Given the description of an element on the screen output the (x, y) to click on. 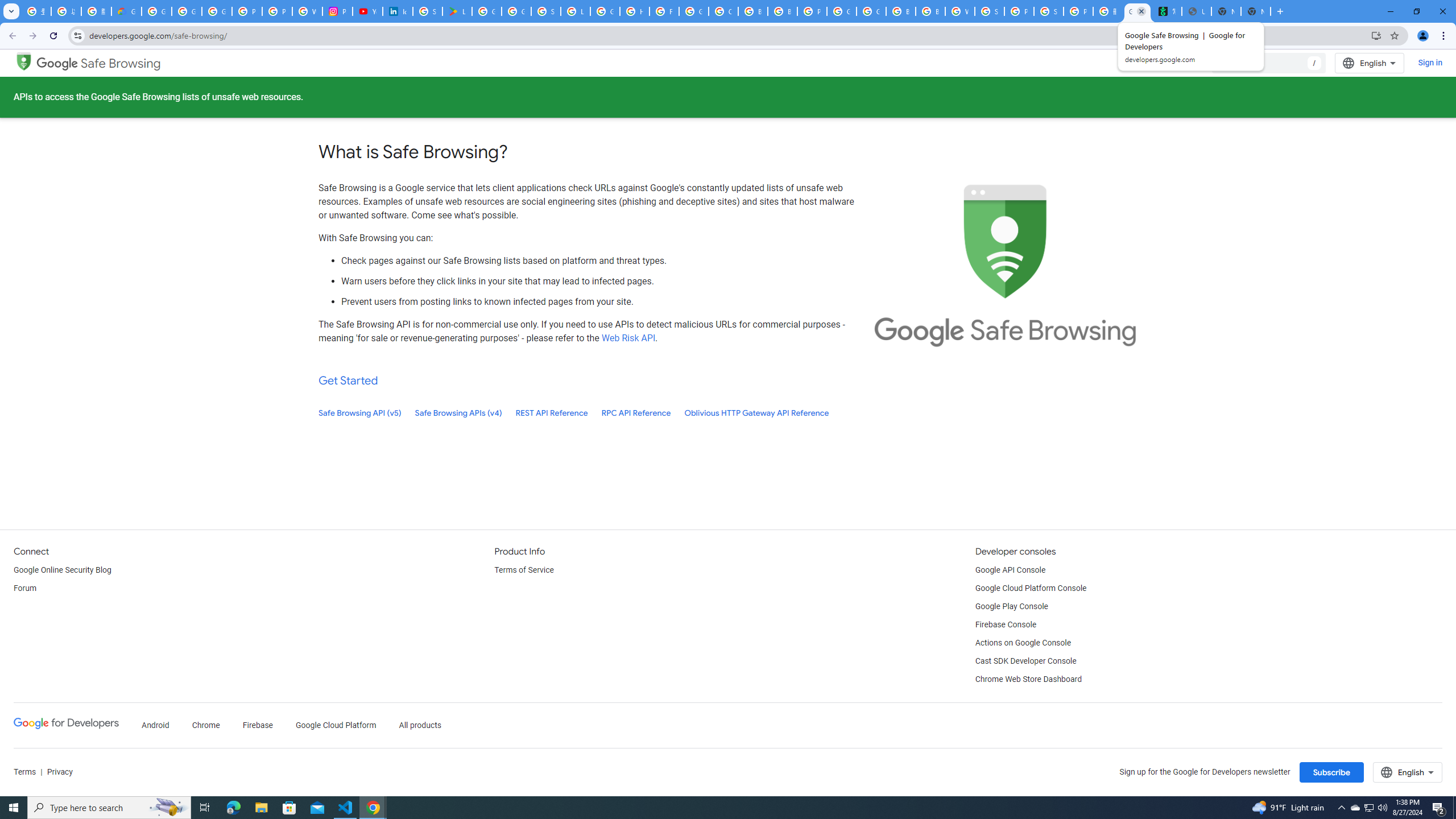
Android (154, 725)
Untitled (1196, 11)
Chrome Web Store Dashboard (1028, 679)
Sign in - Google Accounts (989, 11)
Forum (24, 588)
Firebase Console (1005, 624)
Sign in - Google Accounts (426, 11)
